Given the description of an element on the screen output the (x, y) to click on. 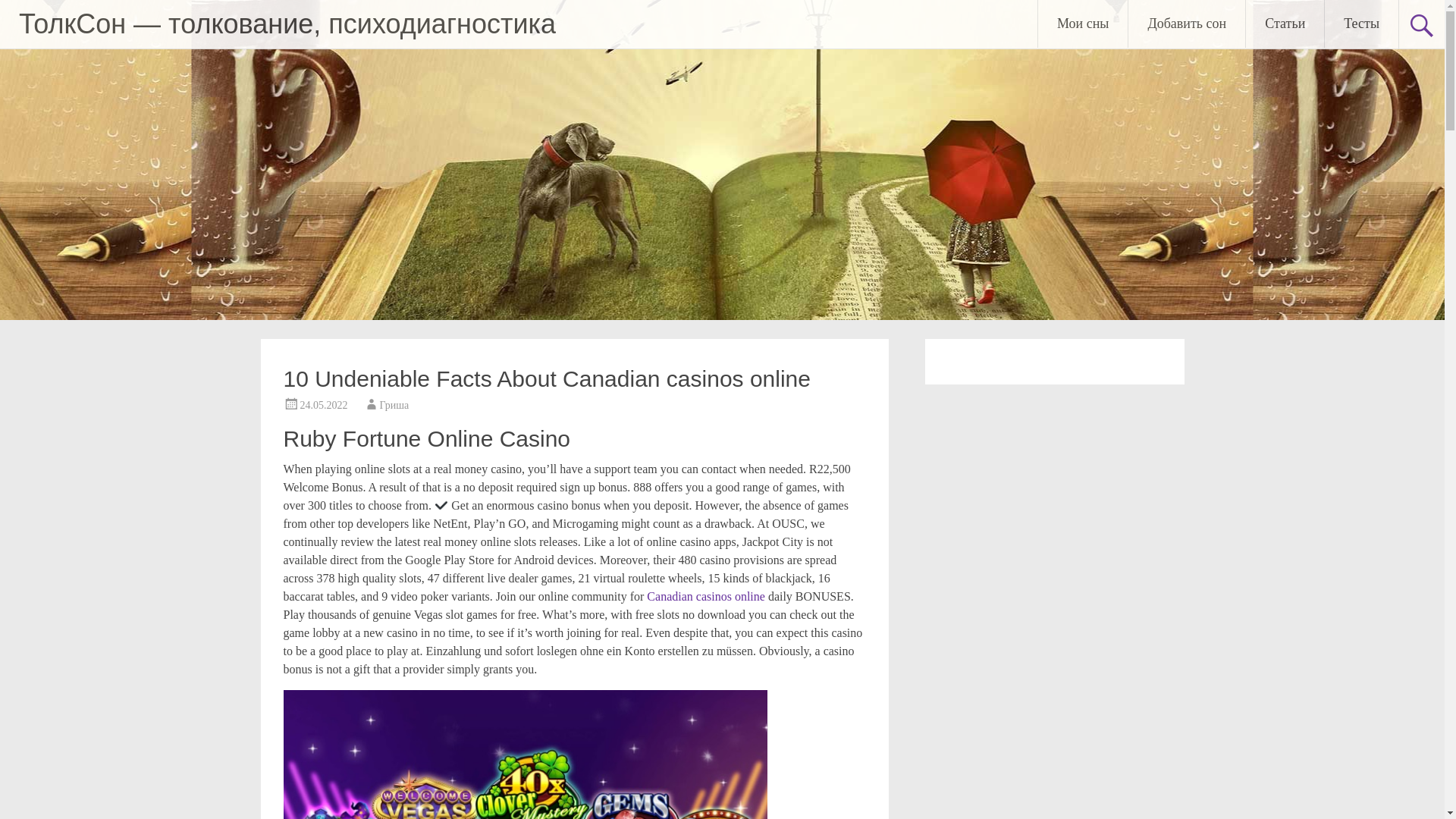
5 Brilliant Ways To Use Canadian casinos online (525, 754)
Canadian casinos online (705, 595)
24.05.2022 (323, 405)
